Given the description of an element on the screen output the (x, y) to click on. 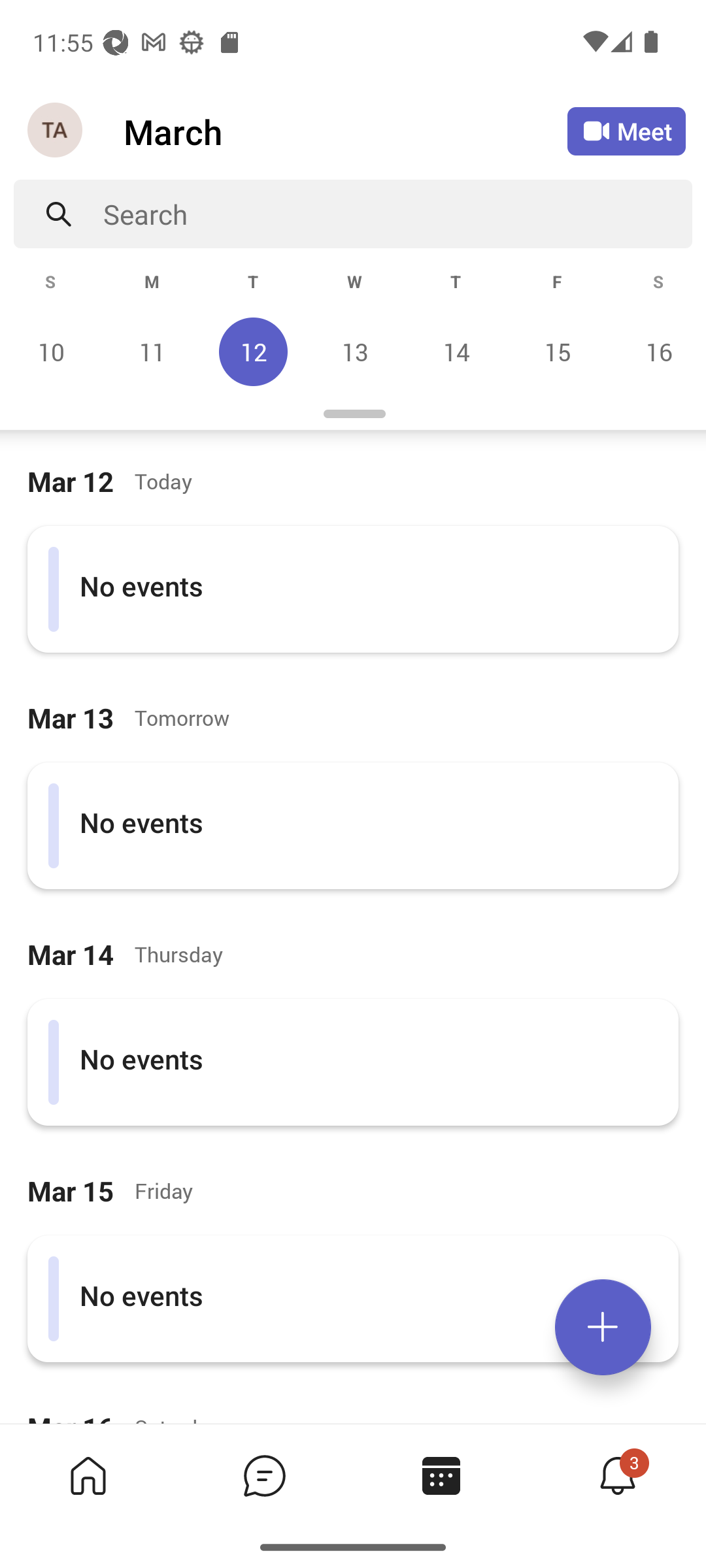
Navigation (56, 130)
Meet Meet now or join with an ID (626, 130)
March March Calendar Agenda View (345, 131)
Search (397, 213)
Sunday, March 10 10 (50, 351)
Monday, March 11 11 (151, 351)
Tuesday, March 12, Today, Selected 12 (253, 351)
Wednesday, March 13 13 (354, 351)
Thursday, March 14 14 (455, 351)
Friday, March 15 15 (556, 351)
Saturday, March 16 16 (656, 351)
Expand meetings menu (602, 1327)
Home tab,1 of 4, not selected (88, 1475)
Chat tab,2 of 4, not selected (264, 1475)
Calendar tab, 3 of 4 (441, 1475)
Activity tab,4 of 4, not selected, 3 new 3 (617, 1475)
